Given the description of an element on the screen output the (x, y) to click on. 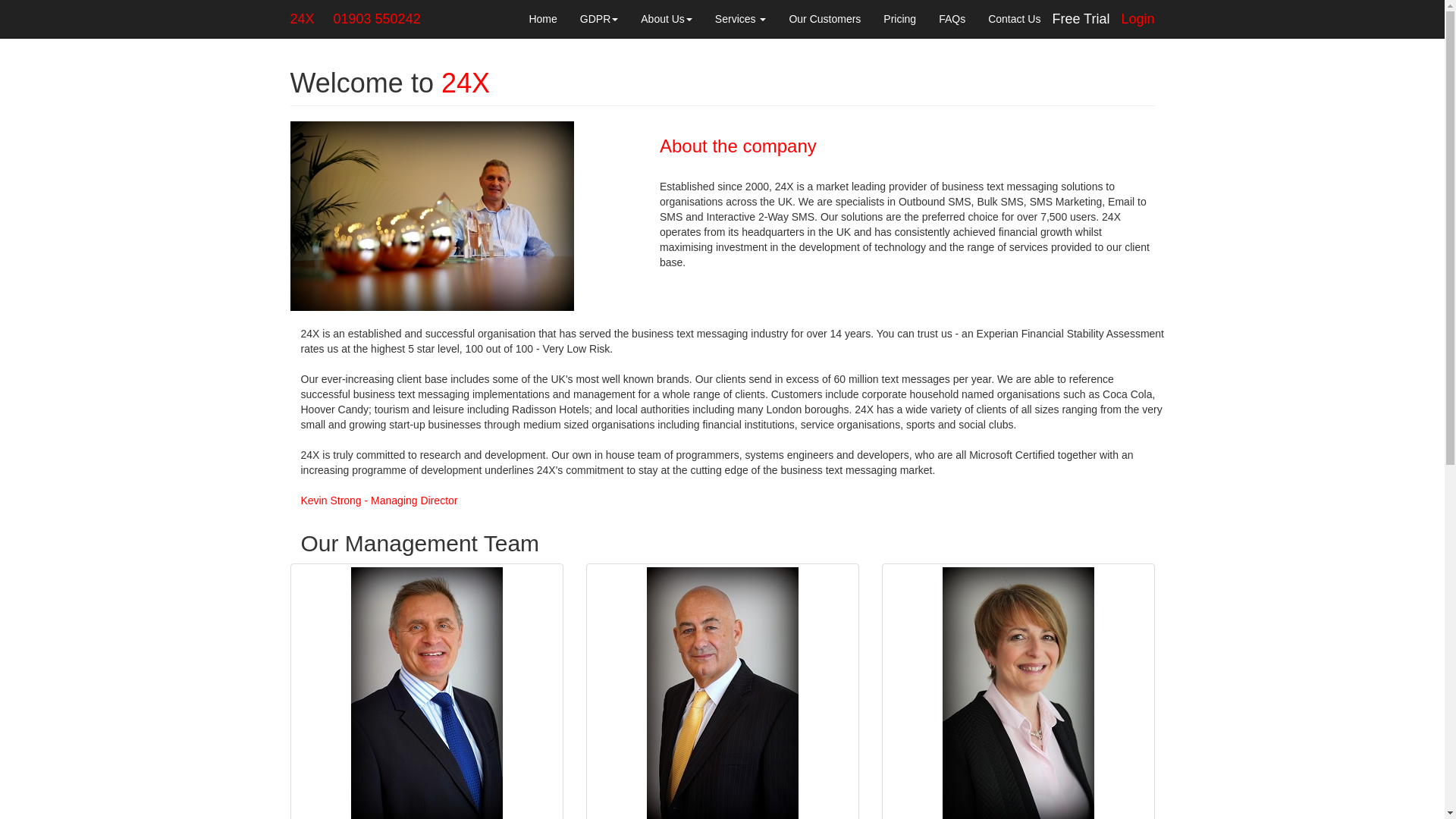
Our Customers Element type: text (824, 18)
About Us Element type: text (666, 18)
Pricing Element type: text (899, 18)
Contact Us Element type: text (1013, 18)
Login Element type: text (1137, 18)
Services Element type: text (740, 18)
Free Trial Element type: text (1080, 18)
24X     01903 550242 Element type: text (355, 18)
GDPR Element type: text (598, 18)
Home Element type: text (542, 18)
FAQs Element type: text (951, 18)
